Given the description of an element on the screen output the (x, y) to click on. 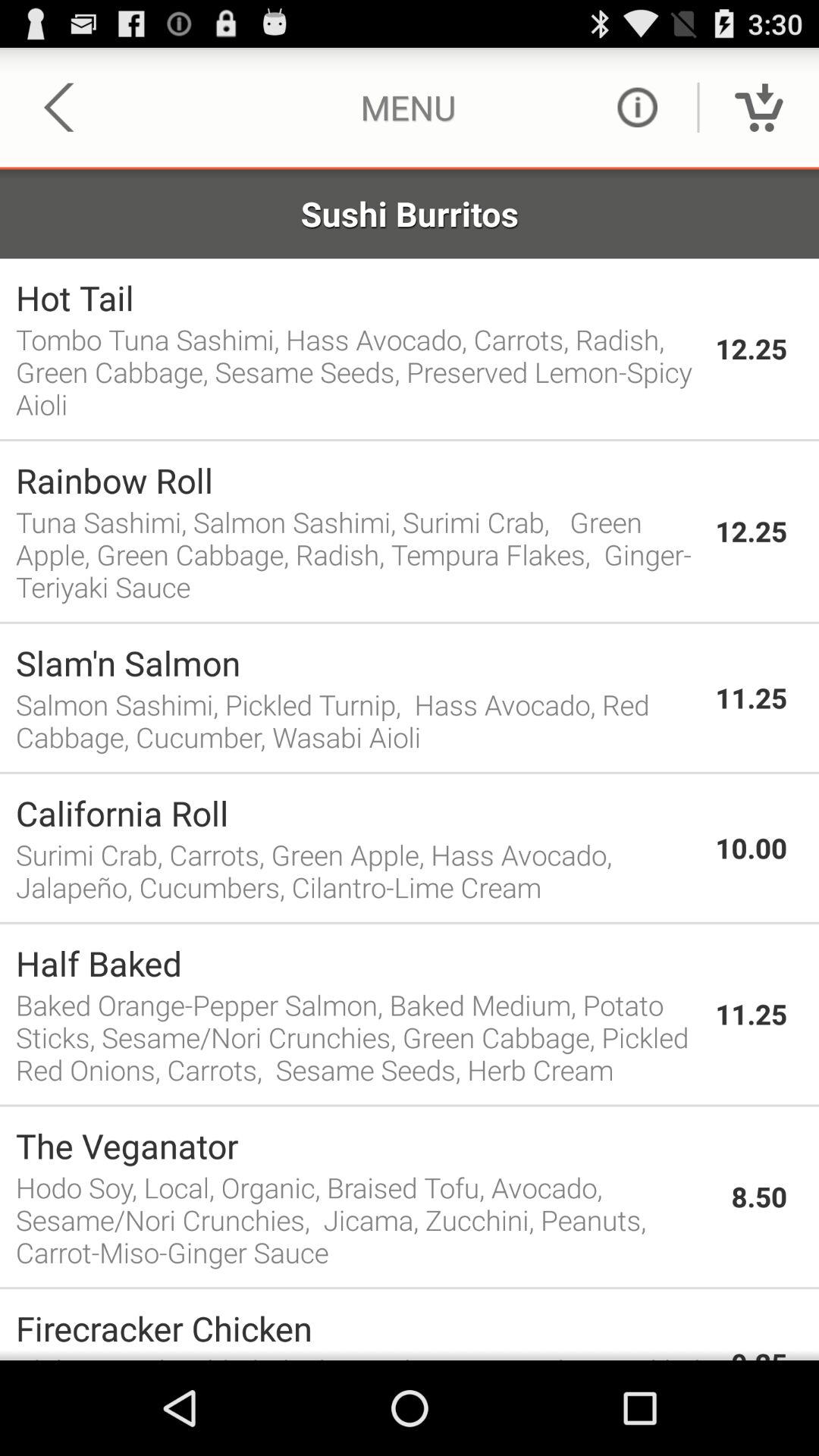
open the app above california roll app (409, 772)
